Given the description of an element on the screen output the (x, y) to click on. 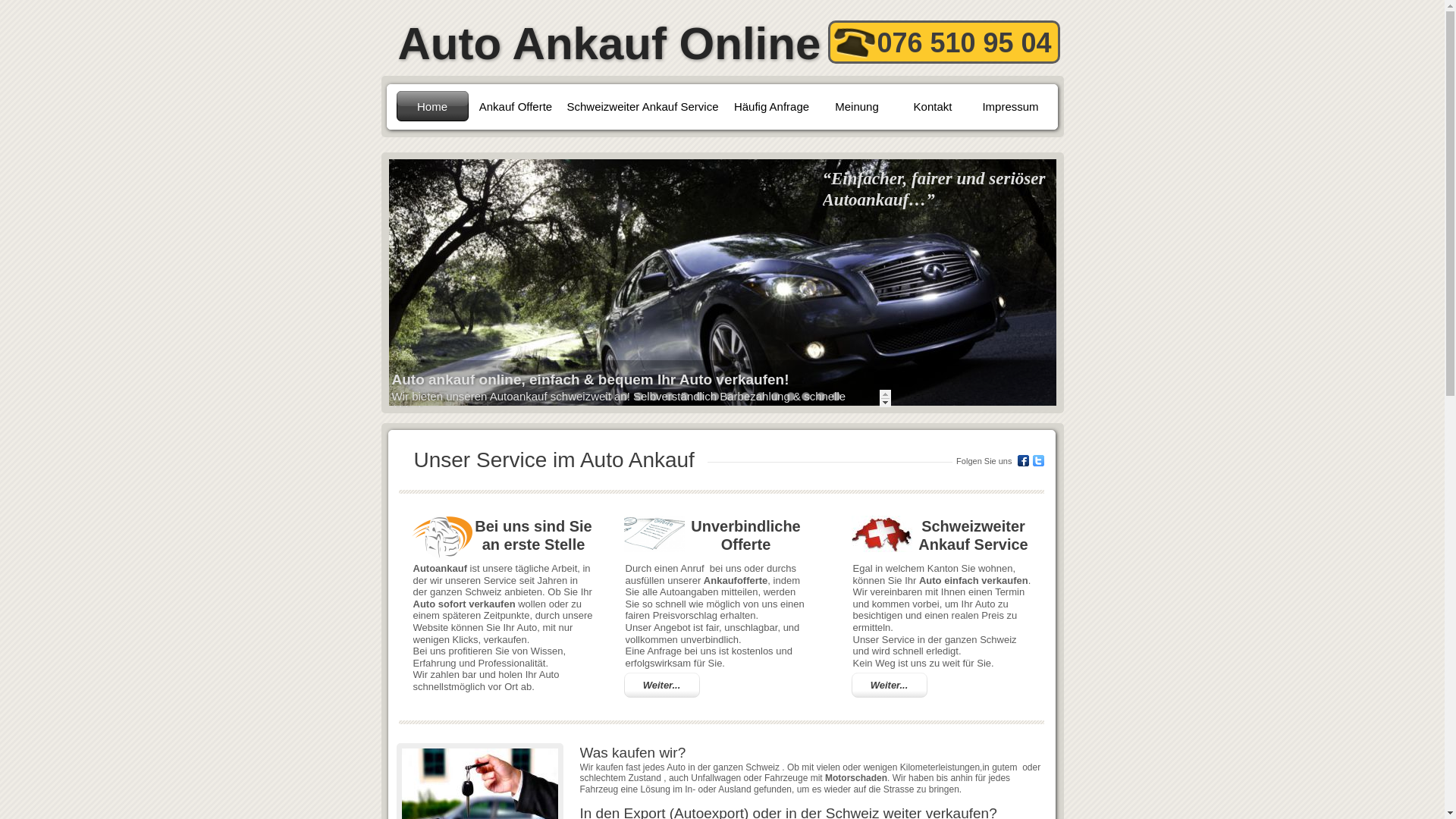
Auto einfach verkaufen Element type: text (973, 579)
Ankaufofferte Element type: text (735, 579)
  Element type: text (381, 6)
Meinung Element type: text (856, 106)
Weiter... Element type: text (661, 684)
Home Element type: text (432, 106)
Schweizweiter Ankauf Service Element type: text (642, 106)
Auto Ankauf offerte Element type: hover (653, 533)
Ankauf Offerte Element type: text (514, 106)
Impressum Element type: text (1010, 106)
Motorschaden Element type: text (856, 776)
Kontakt Element type: text (932, 106)
Auto sofort verkaufen Element type: text (463, 602)
Meinung Element type: text (856, 106)
Weiter... Element type: text (889, 684)
Schweizweiter Ankauf Service Element type: text (641, 106)
Impressum Element type: text (1010, 106)
Home Element type: text (431, 106)
Weiter... Element type: text (661, 684)
Kontakt Element type: text (932, 106)
Weiter... Element type: text (888, 684)
Ankauf Offerte Element type: text (515, 106)
Autoankauf Element type: hover (441, 538)
Autoankauf schweiz Element type: hover (880, 533)
Autoankauf Element type: text (439, 567)
